Given the description of an element on the screen output the (x, y) to click on. 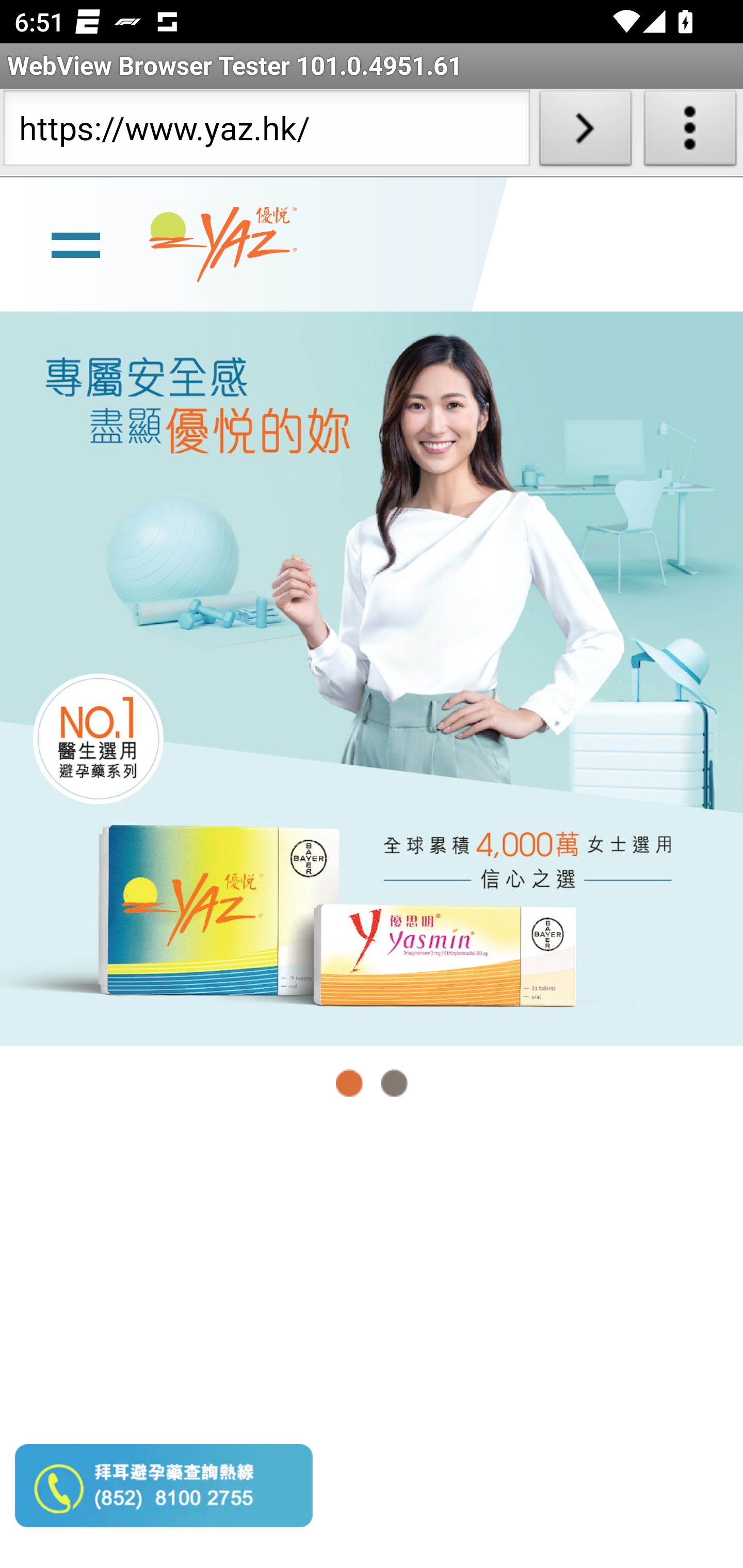
https://www.yaz.hk/ (266, 132)
Load URL (585, 132)
About WebView (690, 132)
www.yaz (222, 244)
line Toggle burger menu (75, 242)
slide 1 Alt tag Alt tag (371, 677)
slide 1 Alt tag Alt tag (371, 677)
1 of 2 (349, 1083)
2 of 2 (393, 1083)
Video Player (371, 1345)
